Given the description of an element on the screen output the (x, y) to click on. 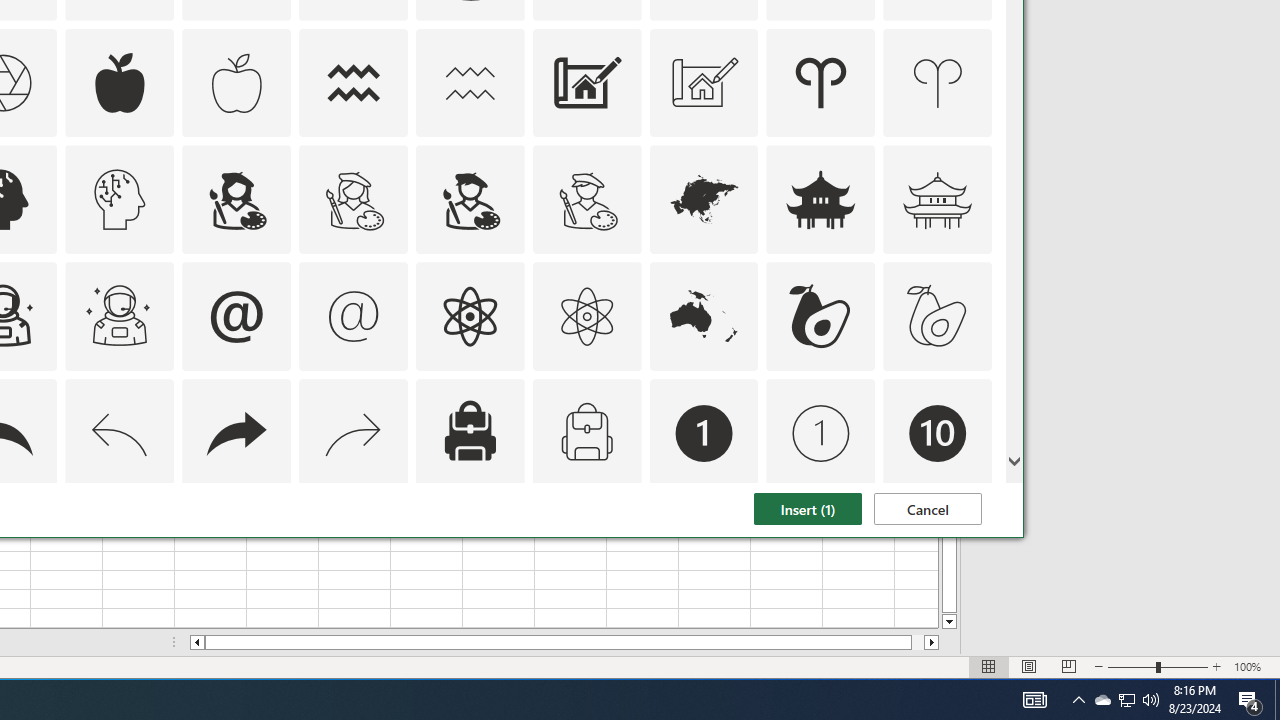
Cancel (927, 508)
AutomationID: Icons_Badge9_M (938, 550)
AutomationID: Icons_Atom (469, 316)
AutomationID: Icons_Badge9 (820, 550)
AutomationID: Icons_ArtificialIntelligence_M (120, 200)
